Given the description of an element on the screen output the (x, y) to click on. 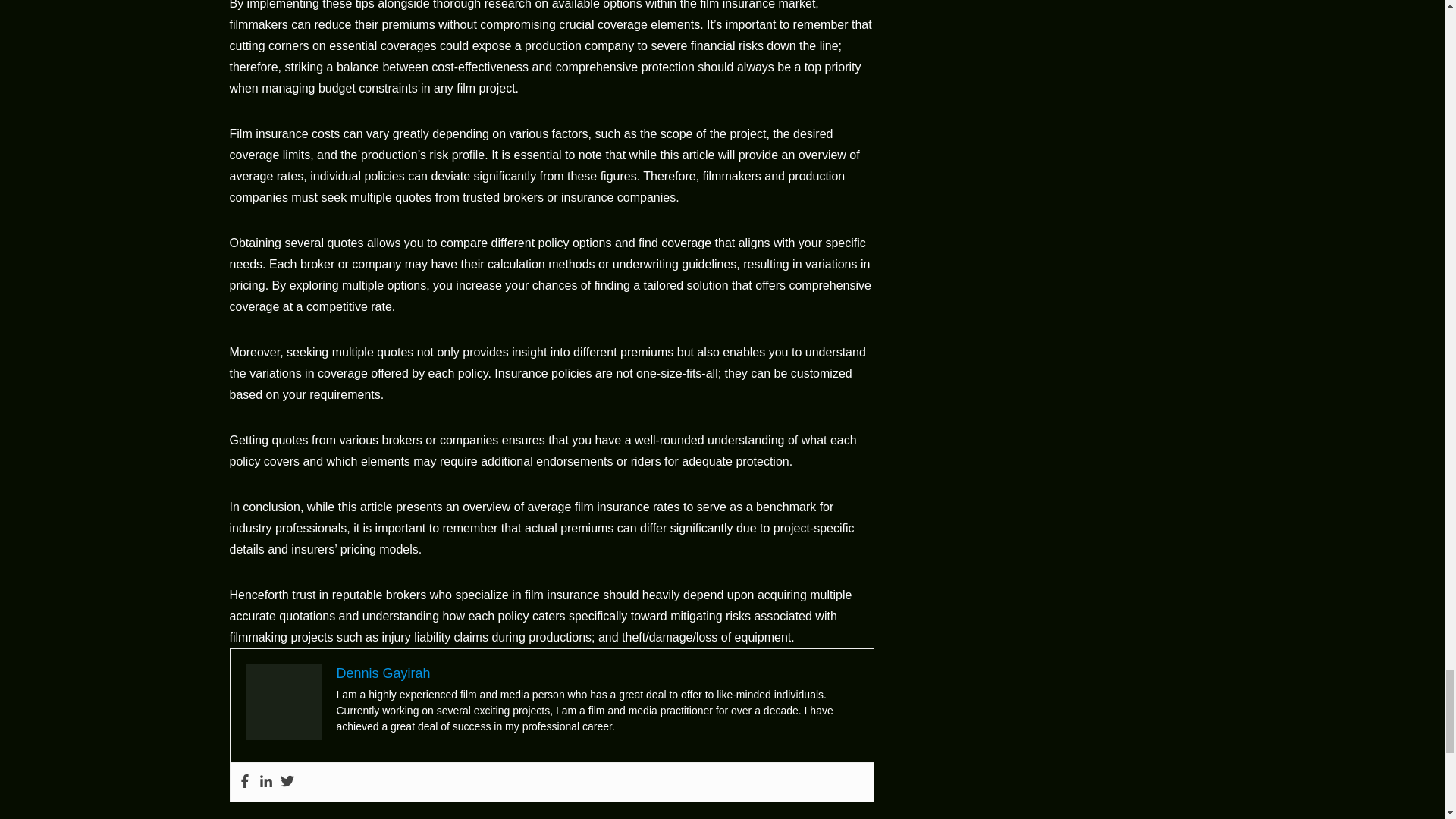
Twitter (287, 781)
Dennis Gayirah (383, 672)
Linkedin (266, 781)
Facebook (244, 781)
